Given the description of an element on the screen output the (x, y) to click on. 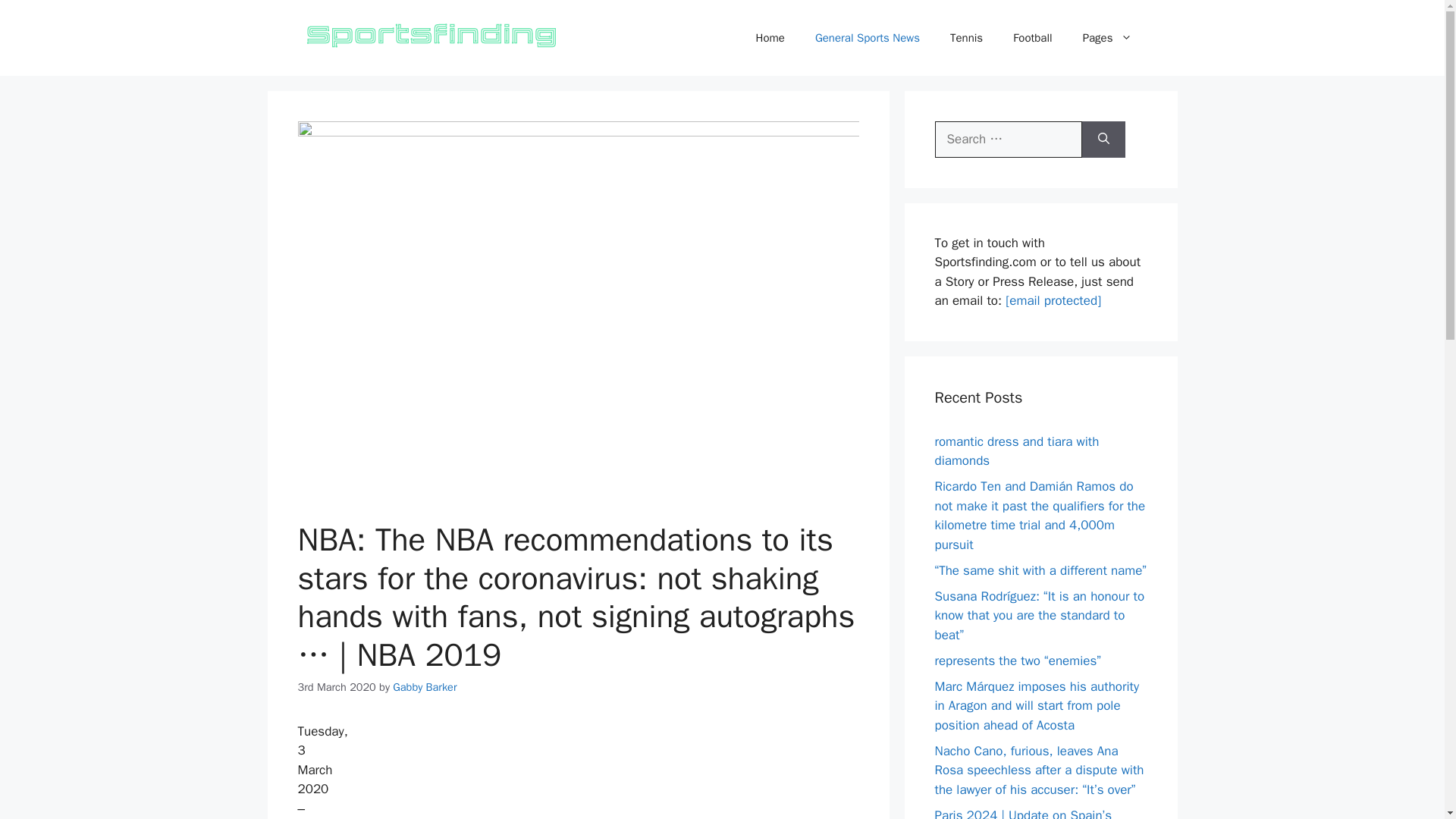
Search for: (1007, 139)
View all posts by Gabby Barker (425, 686)
General Sports News (866, 37)
Tennis (965, 37)
Pages (1107, 37)
Home (770, 37)
Football (1032, 37)
romantic dress and tiara with diamonds (1016, 451)
Gabby Barker (425, 686)
